Given the description of an element on the screen output the (x, y) to click on. 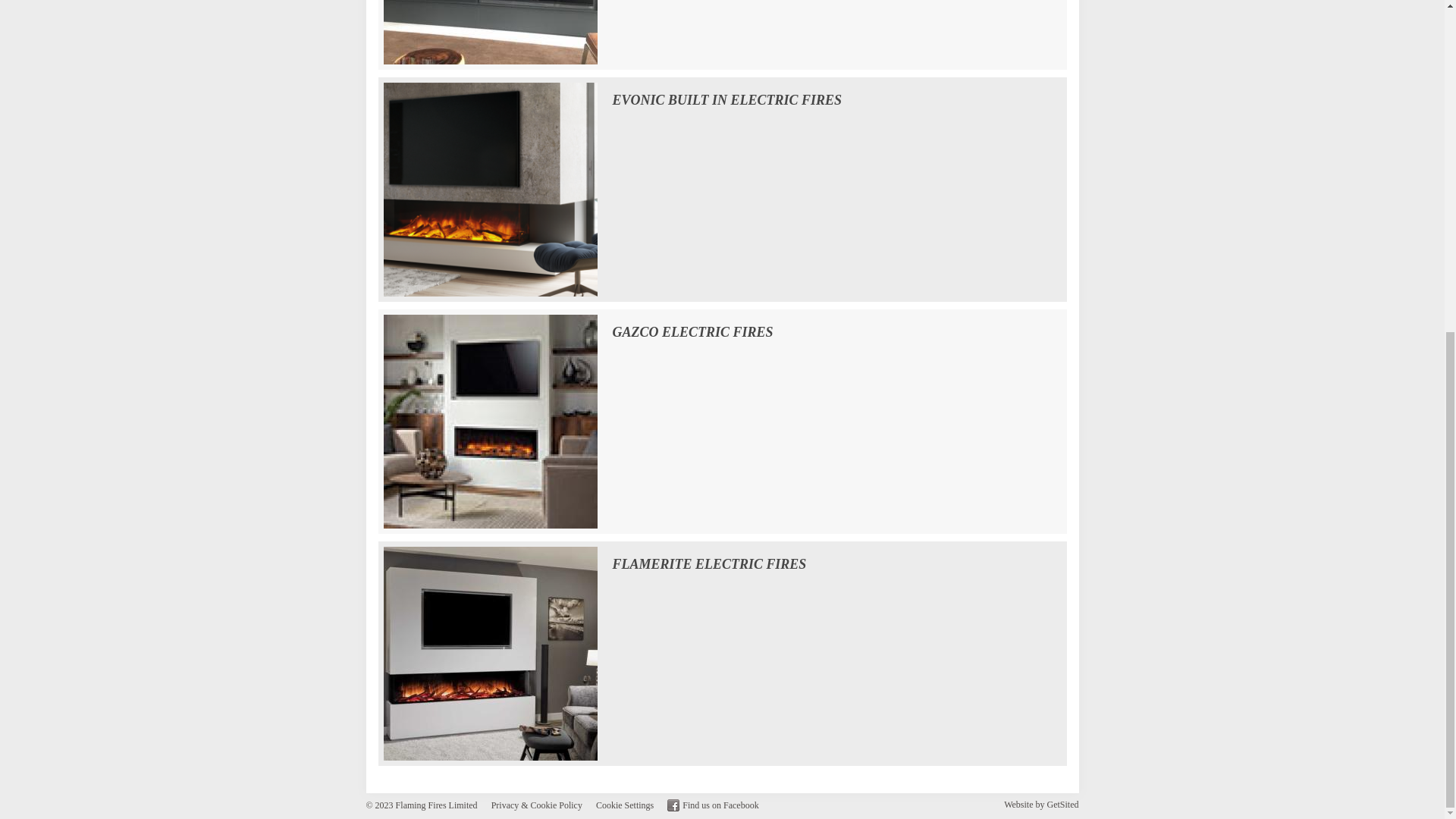
FLAMERITE ELECTRIC FIRES (489, 653)
Cookie Settings (624, 805)
THE KALFIRE E-ONE (489, 34)
Web design in Wombourne (1041, 804)
Find us on Facebook (712, 805)
GAZCO ELECTRIC FIRES (489, 421)
EVONIC BUILT IN ELECTRIC FIRES (489, 189)
Website by GetSited (1041, 804)
